Given the description of an element on the screen output the (x, y) to click on. 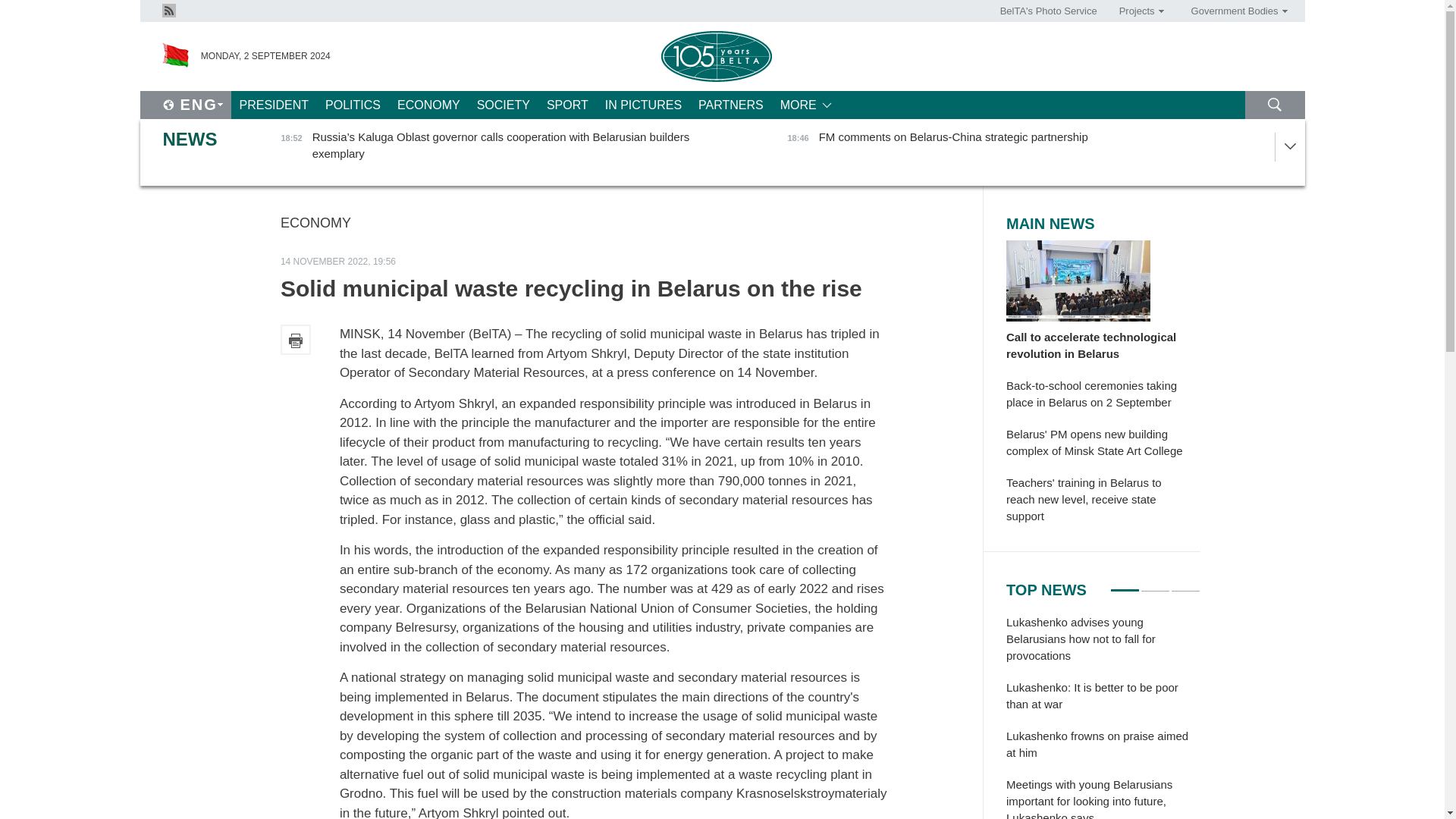
BelTA's Photo Service (1048, 11)
Government Bodies (1233, 11)
Rss (168, 10)
Government Bodies (1233, 11)
Projects (1136, 11)
Projects (1136, 11)
Rss (167, 9)
BelTA's Photo Service (1048, 11)
